Given the description of an element on the screen output the (x, y) to click on. 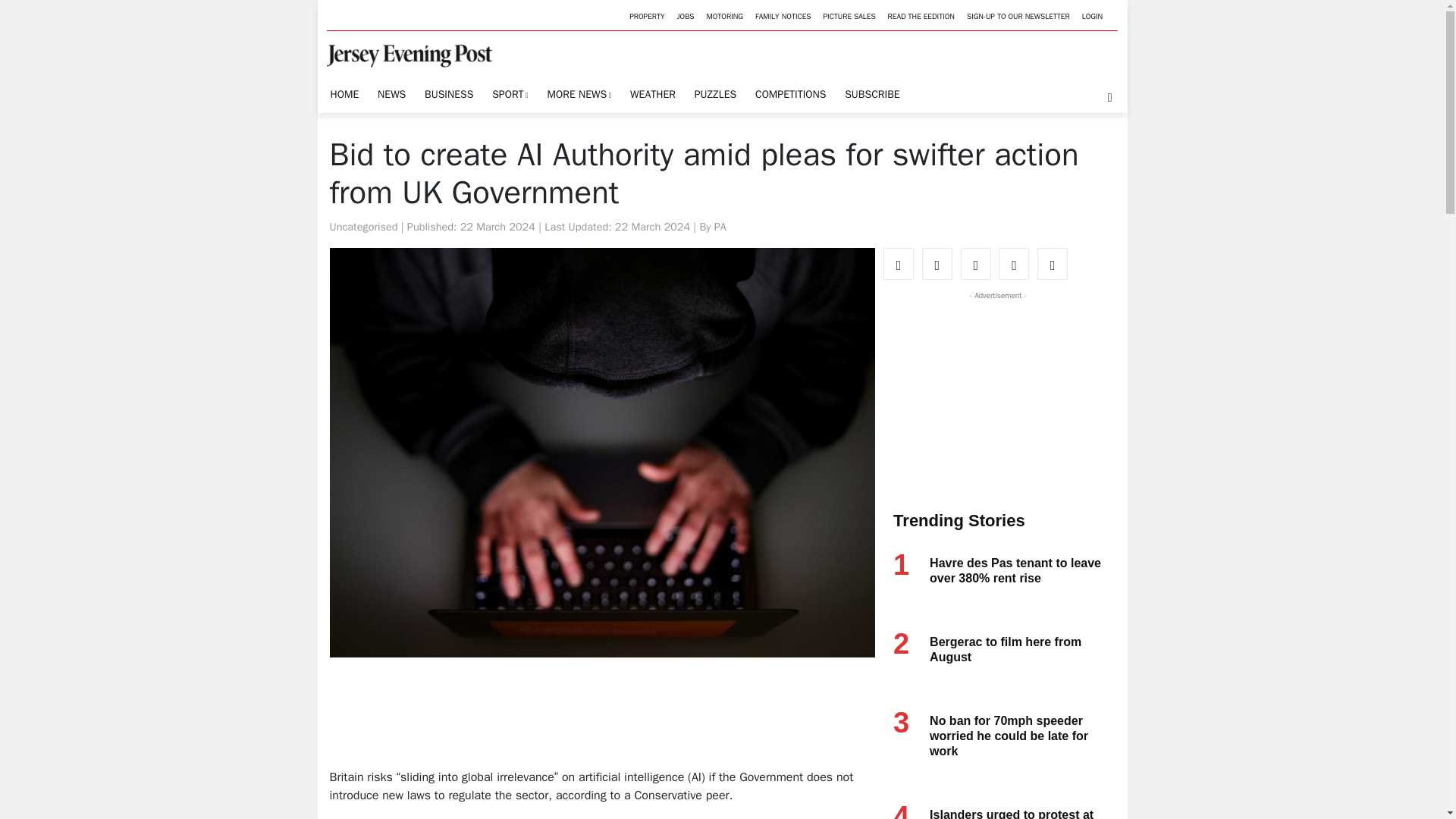
HOME (344, 94)
SIGN-UP TO OUR NEWSLETTER (1017, 16)
BUSINESS (448, 94)
JOBS (685, 16)
COMPETITIONS (790, 94)
SUBSCRIBE (871, 94)
SPORT (509, 94)
PUZZLES (714, 94)
MOTORING (724, 16)
WEATHER (652, 94)
FAMILY NOTICES (782, 16)
PROPERTY (646, 16)
READ THE EEDITION (921, 16)
LOGIN (1091, 16)
PICTURE SALES (848, 16)
